Given the description of an element on the screen output the (x, y) to click on. 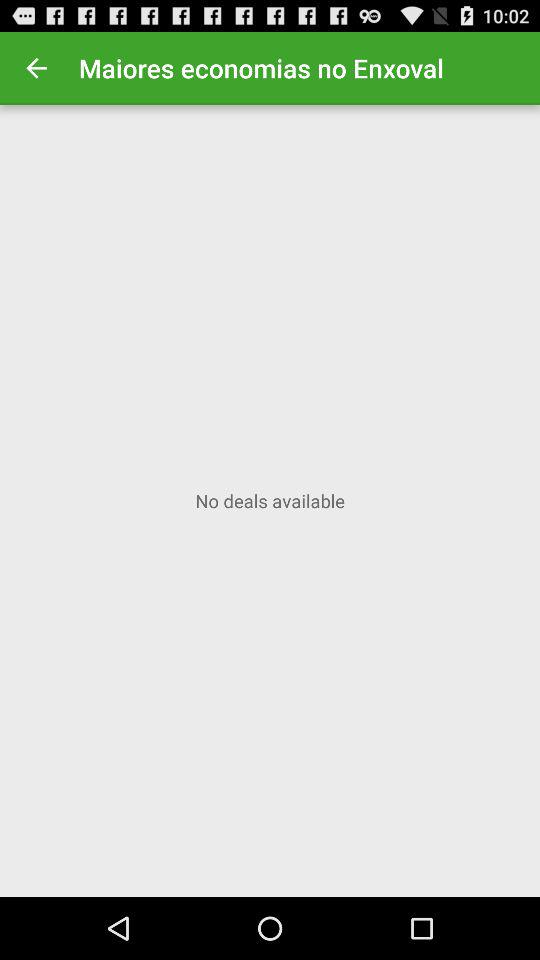
tap the item to the left of the maiores economias no item (36, 68)
